Given the description of an element on the screen output the (x, y) to click on. 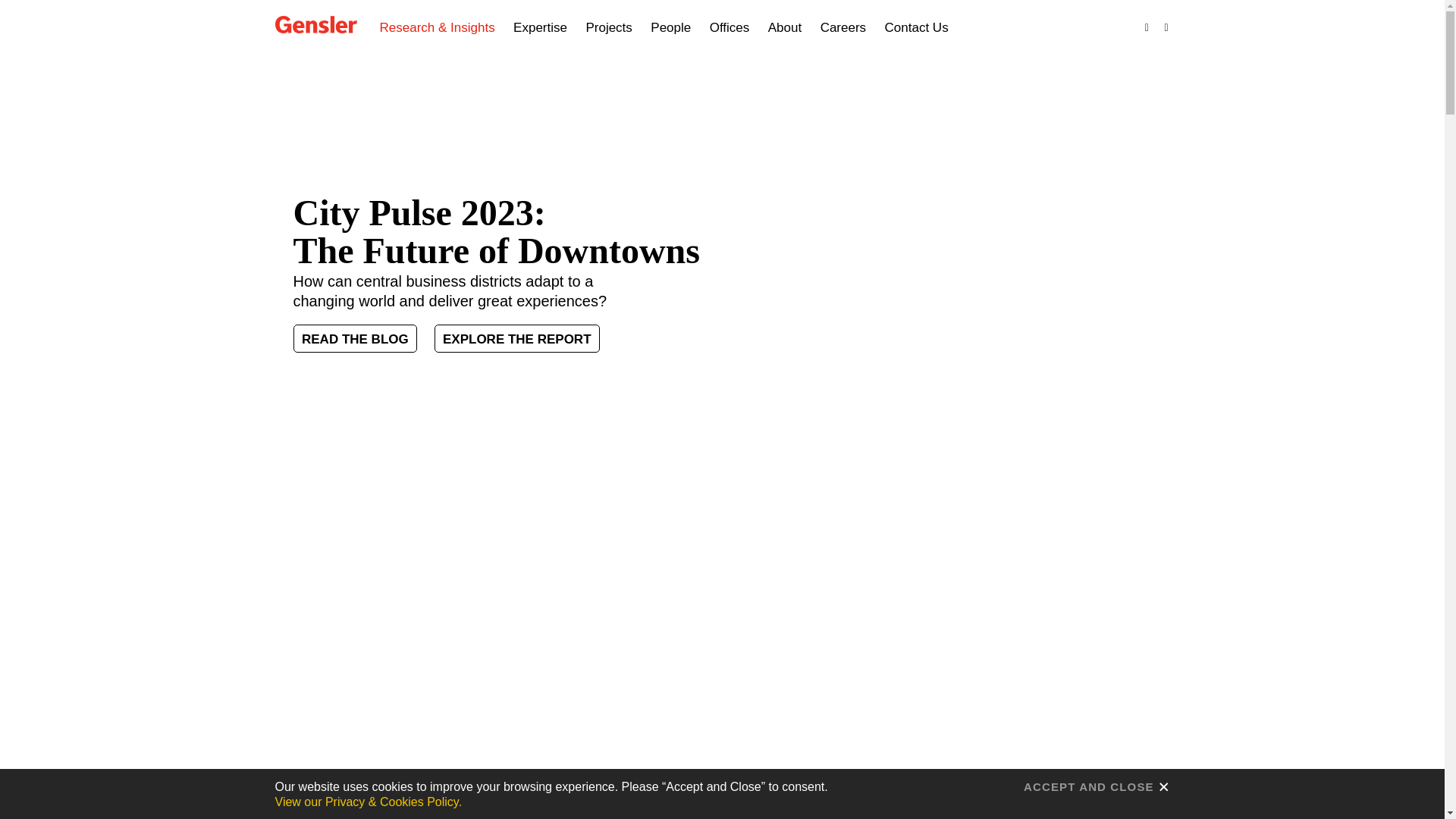
Expertise (540, 28)
Gensler (315, 24)
Gensler (315, 25)
